Given the description of an element on the screen output the (x, y) to click on. 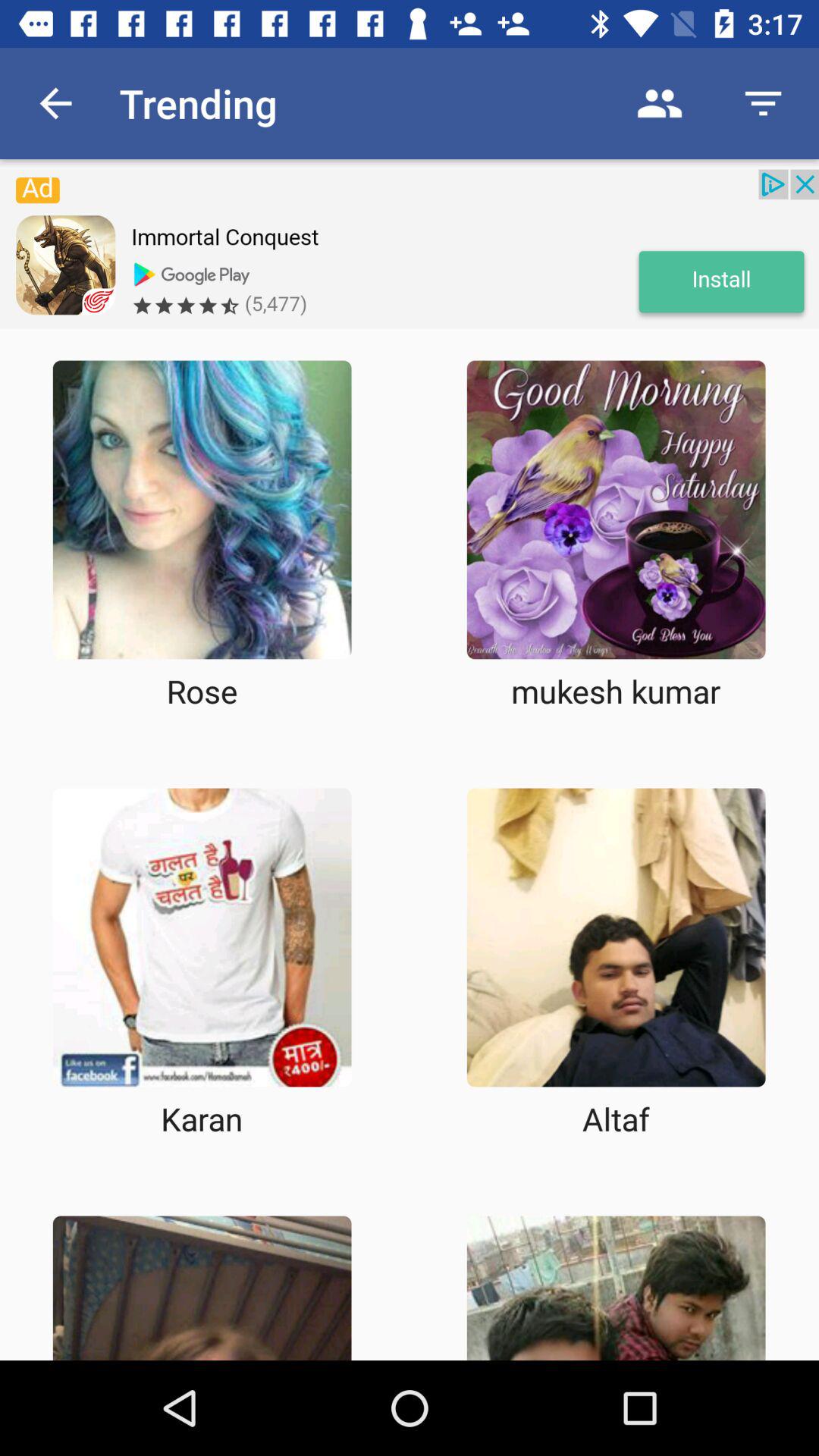
select option (201, 509)
